Given the description of an element on the screen output the (x, y) to click on. 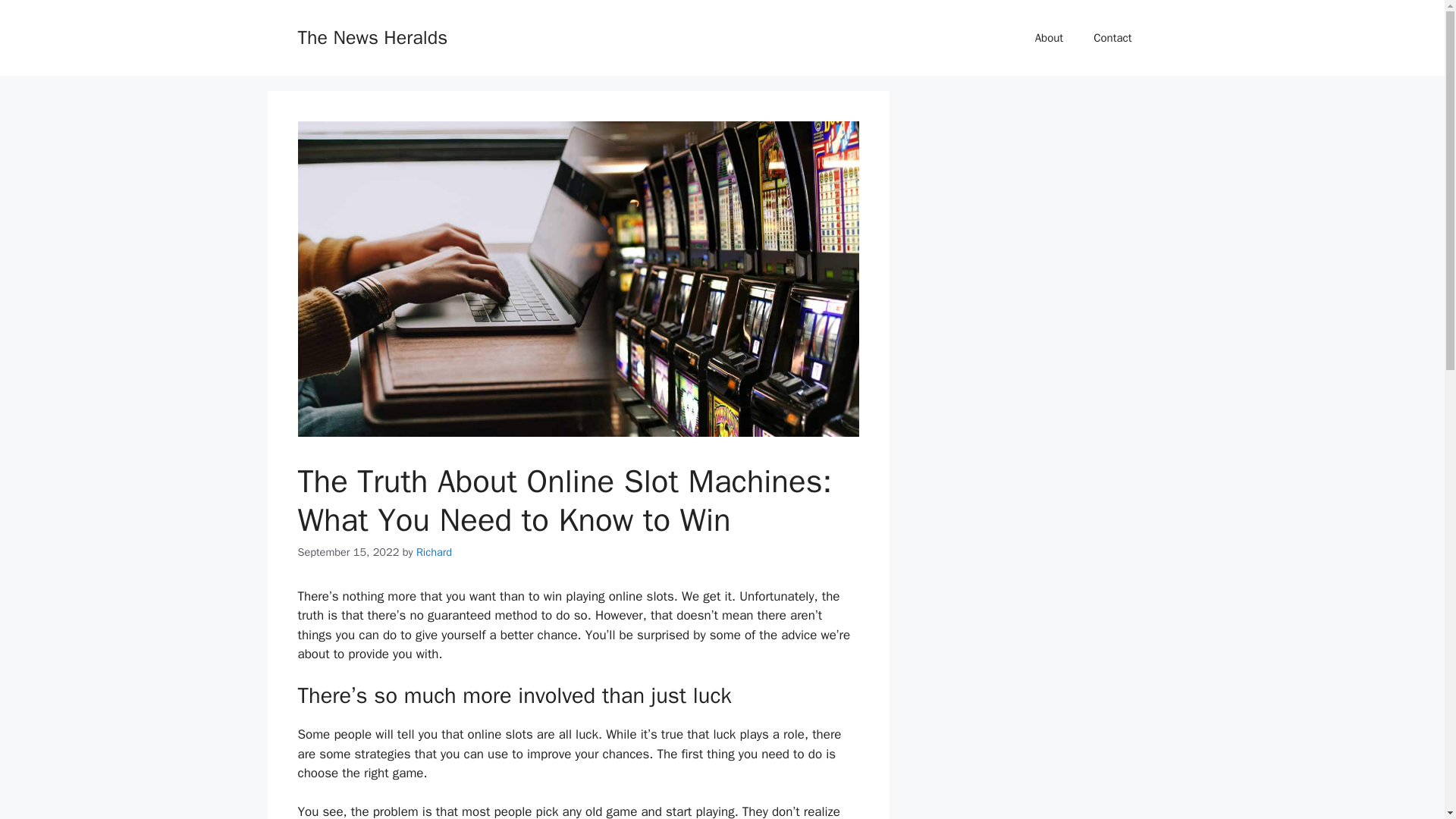
Contact (1112, 37)
Richard (433, 551)
About (1049, 37)
View all posts by Richard (433, 551)
The News Heralds (371, 37)
